Given the description of an element on the screen output the (x, y) to click on. 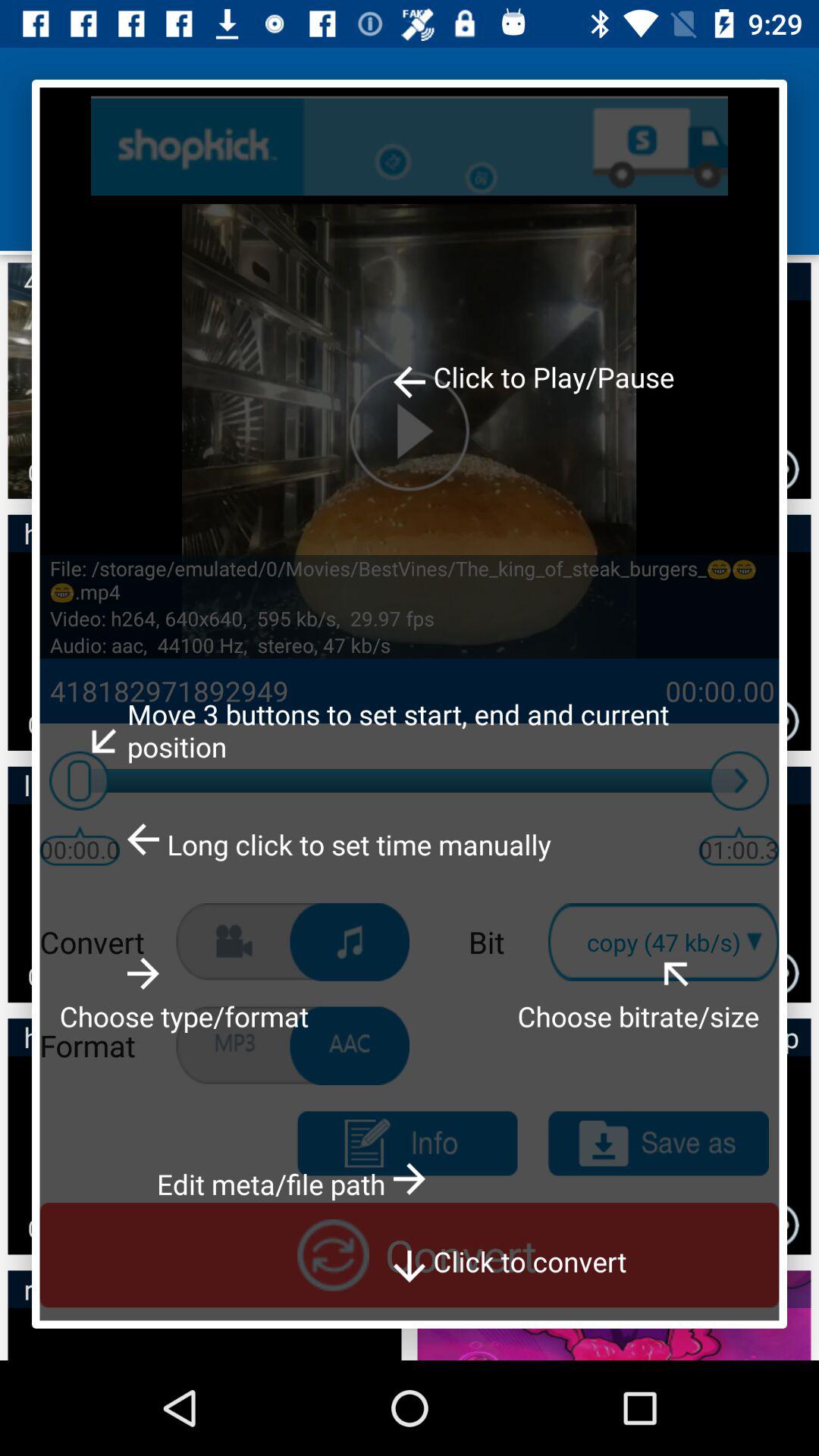
editing button (406, 1143)
